Given the description of an element on the screen output the (x, y) to click on. 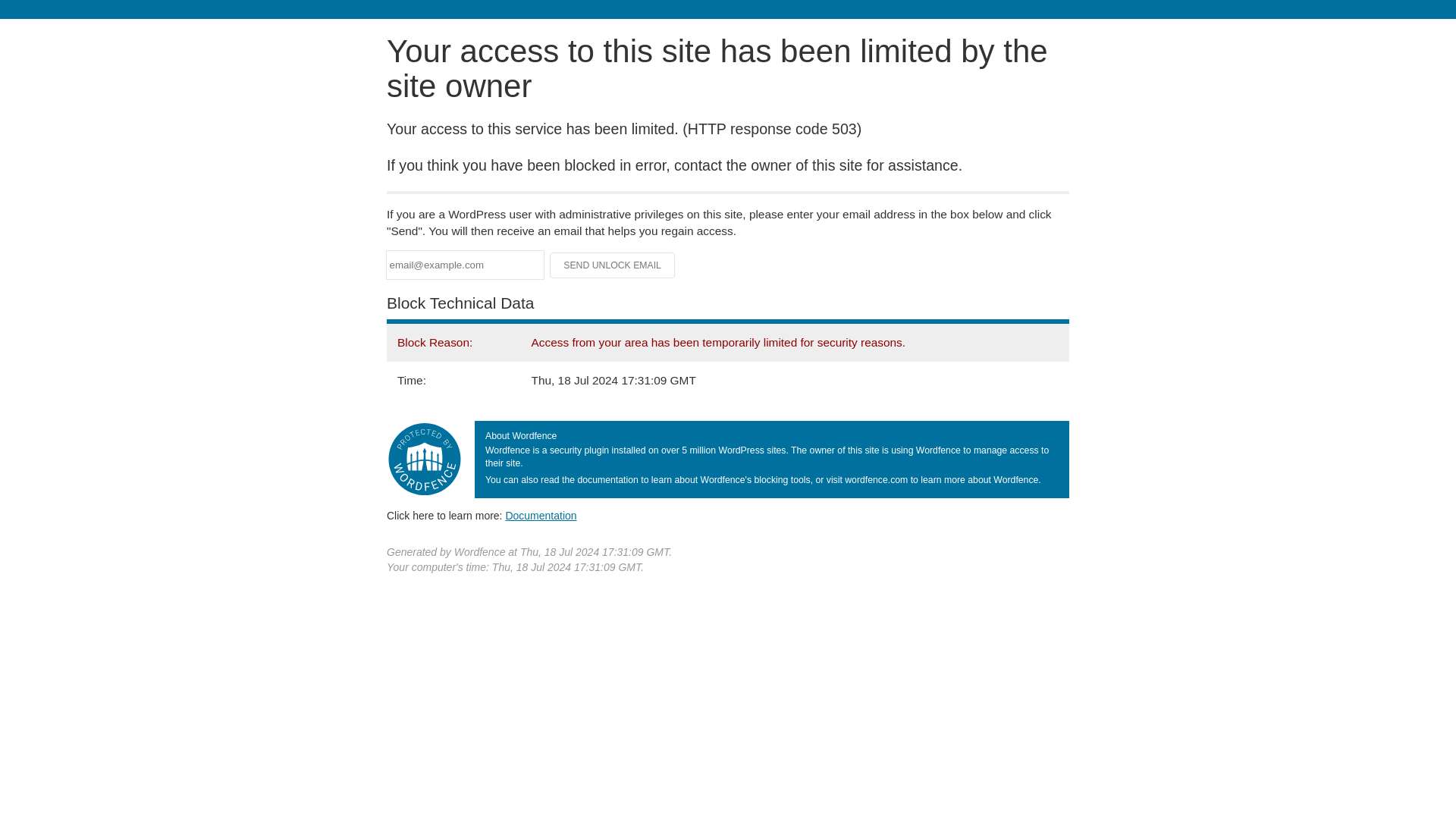
Send Unlock Email (612, 265)
Documentation (540, 515)
Send Unlock Email (612, 265)
